Given the description of an element on the screen output the (x, y) to click on. 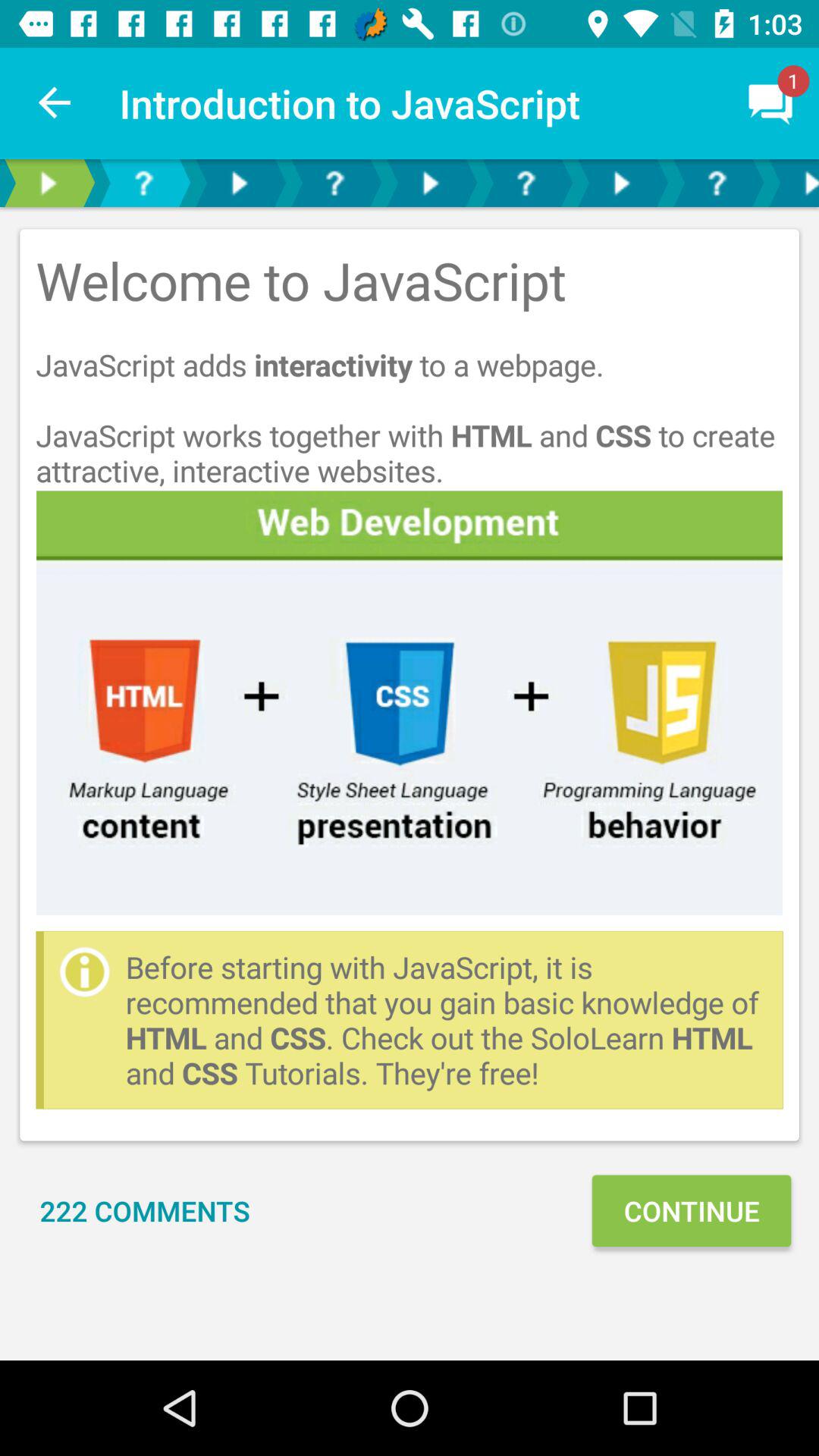
open the faqs (525, 183)
